Given the description of an element on the screen output the (x, y) to click on. 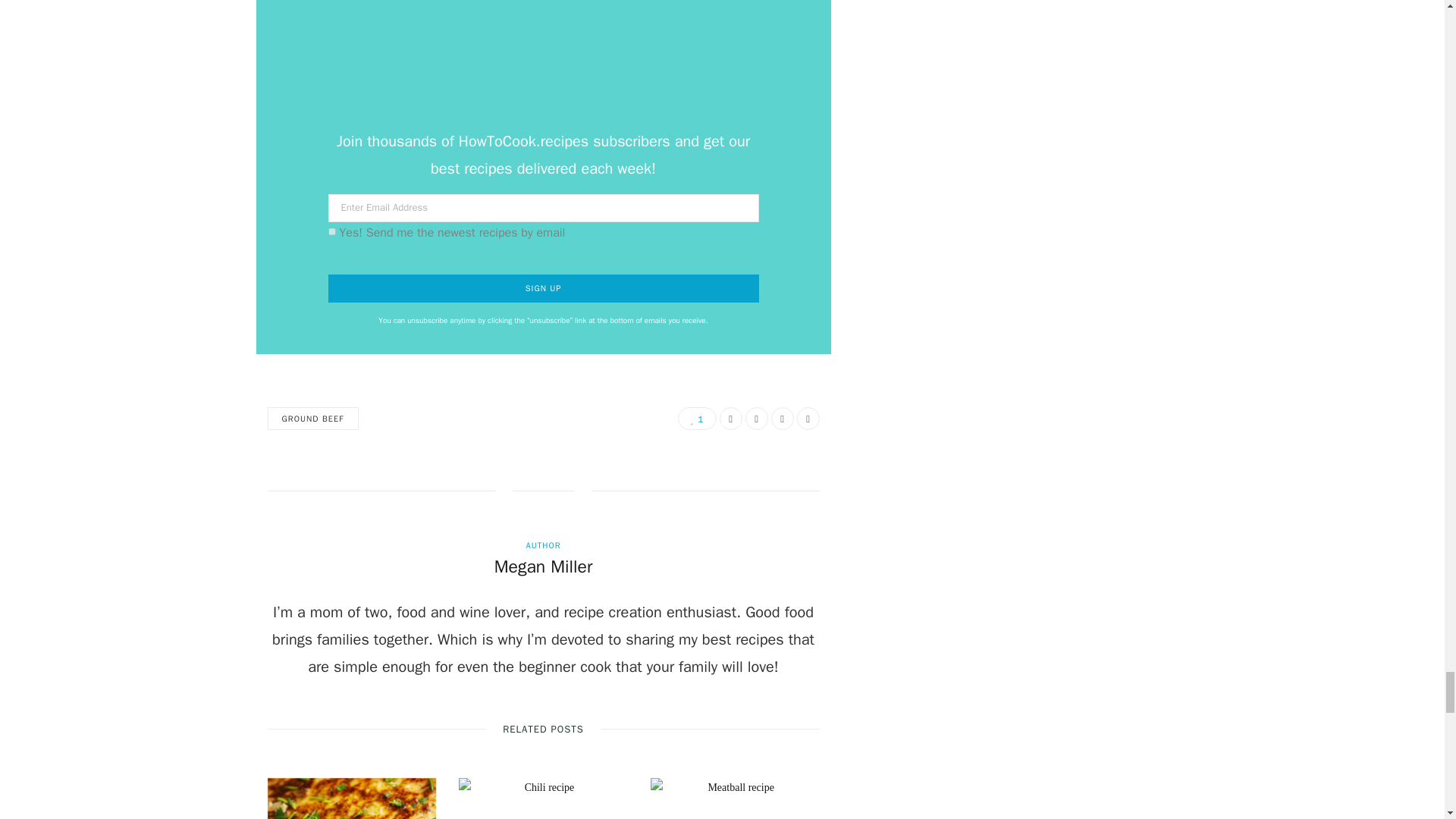
Email (807, 418)
Sign up (542, 288)
Share on Twitter (755, 418)
Share on Facebook (730, 418)
Posts by Megan Miller (543, 567)
Pinterest (781, 418)
